Given the description of an element on the screen output the (x, y) to click on. 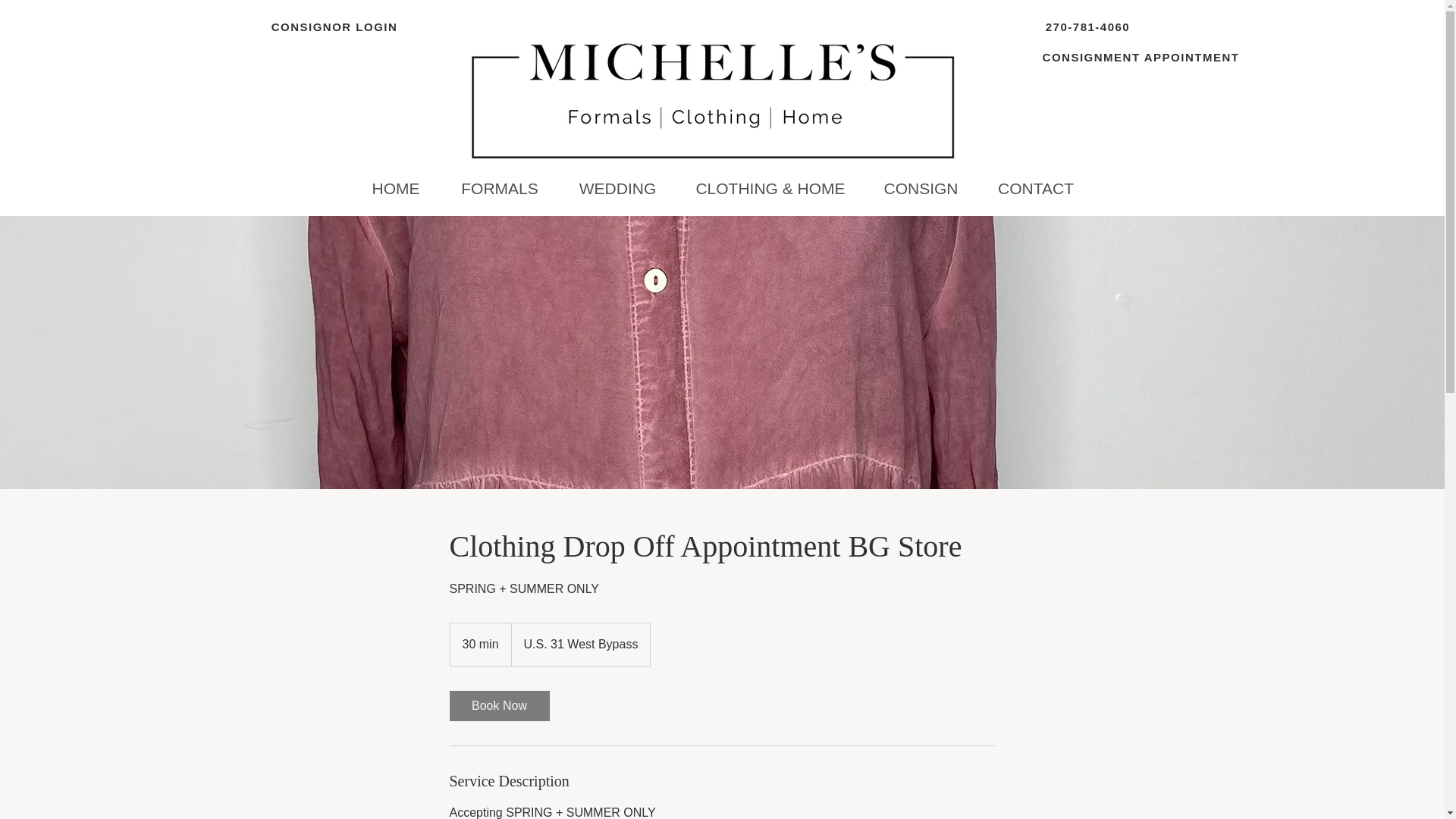
HOME (395, 188)
CONSIGN (921, 188)
CONSIGNOR LOGIN (335, 26)
CONTACT (1036, 188)
FORMALS (500, 188)
WEDDING (617, 188)
MCB-Logo-Final-Web.png (707, 98)
Book Now (498, 706)
270-781-4060 (1088, 26)
CONSIGNMENT APPOINTMENT (1142, 56)
